Given the description of an element on the screen output the (x, y) to click on. 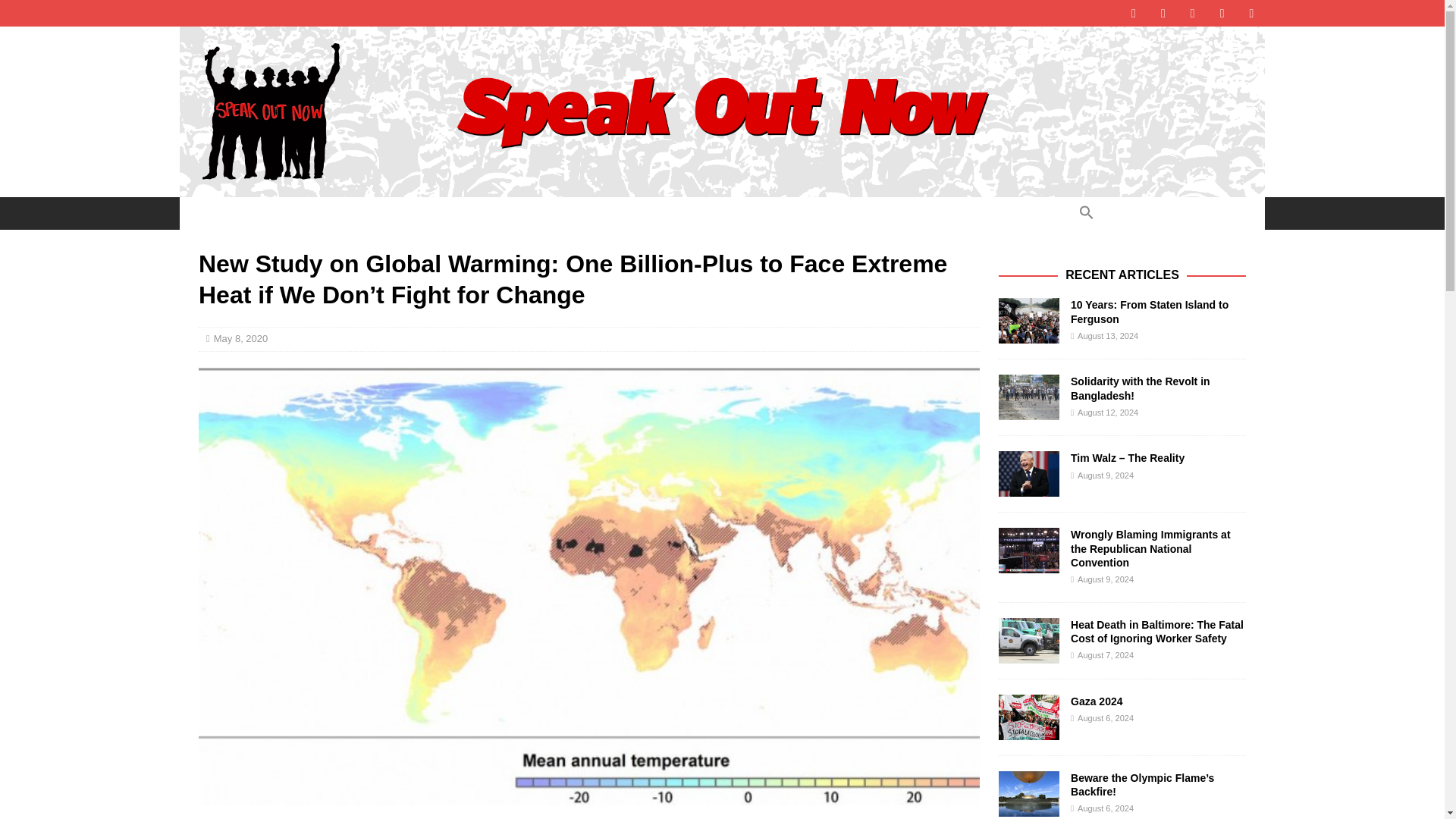
PUBLICATIONS (561, 213)
ABOUT US (381, 213)
WORKPLACE NEWSLETTERS (711, 213)
EVENTS (465, 213)
Speak Out Now (722, 188)
